Given the description of an element on the screen output the (x, y) to click on. 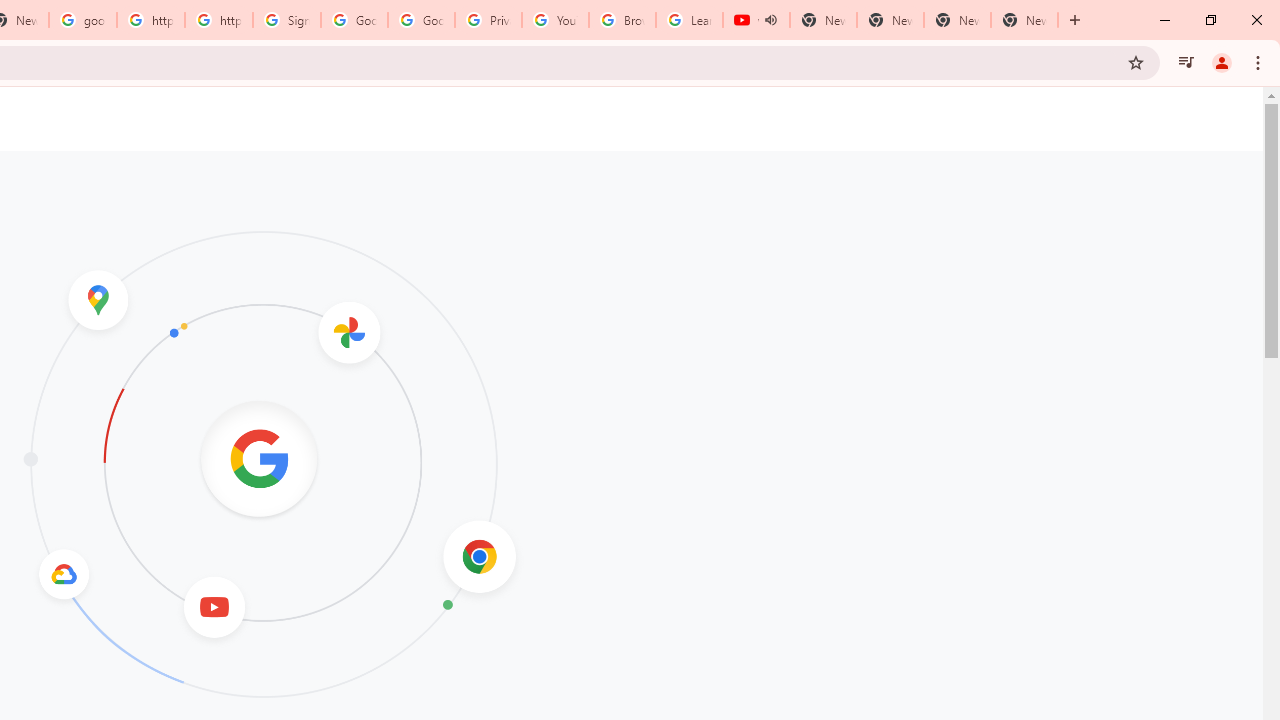
https://scholar.google.com/ (219, 20)
Mute tab (770, 20)
New Tab (1024, 20)
Sign in - Google Accounts (287, 20)
